Given the description of an element on the screen output the (x, y) to click on. 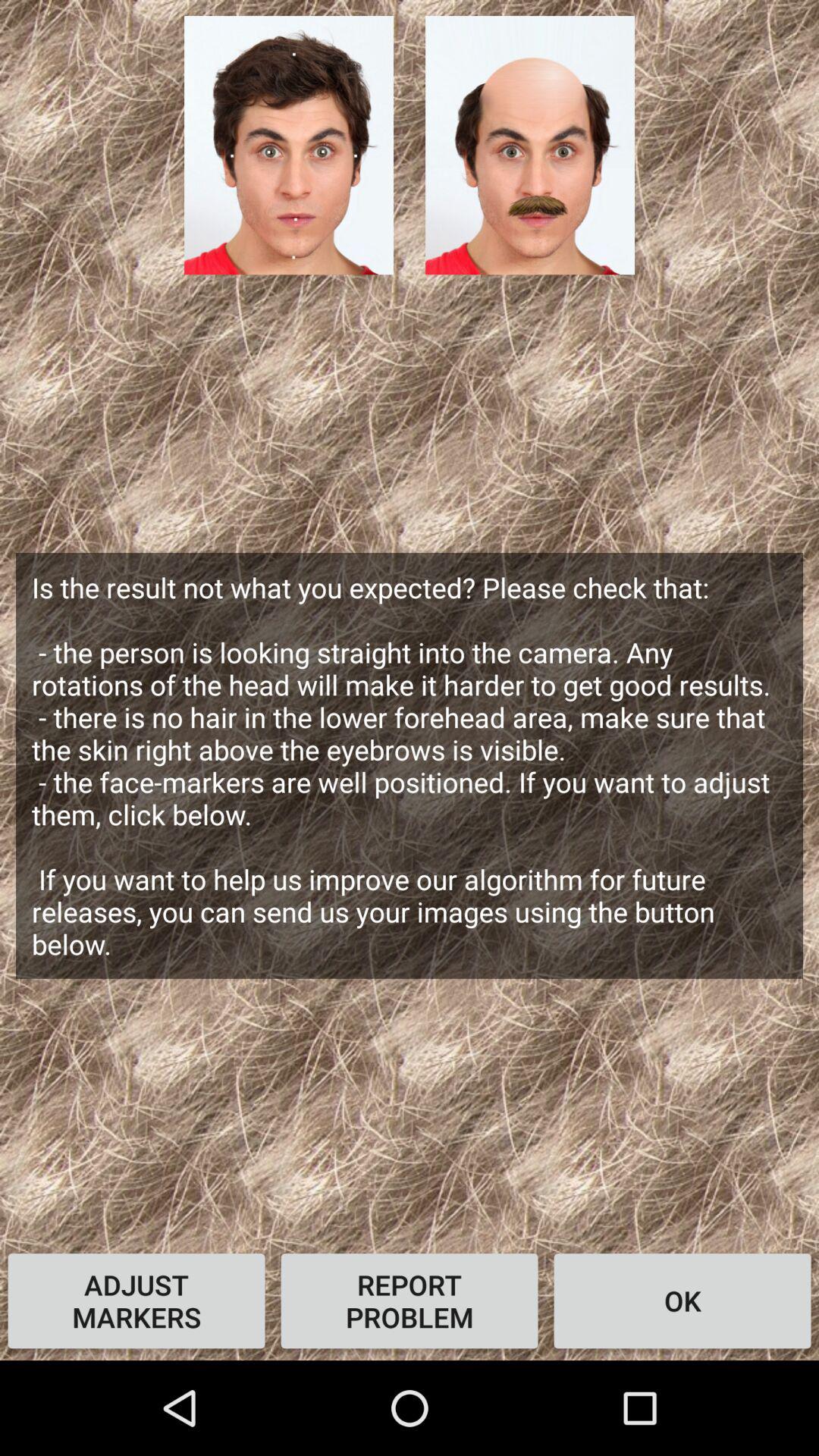
click the icon next to the report problem (136, 1300)
